Given the description of an element on the screen output the (x, y) to click on. 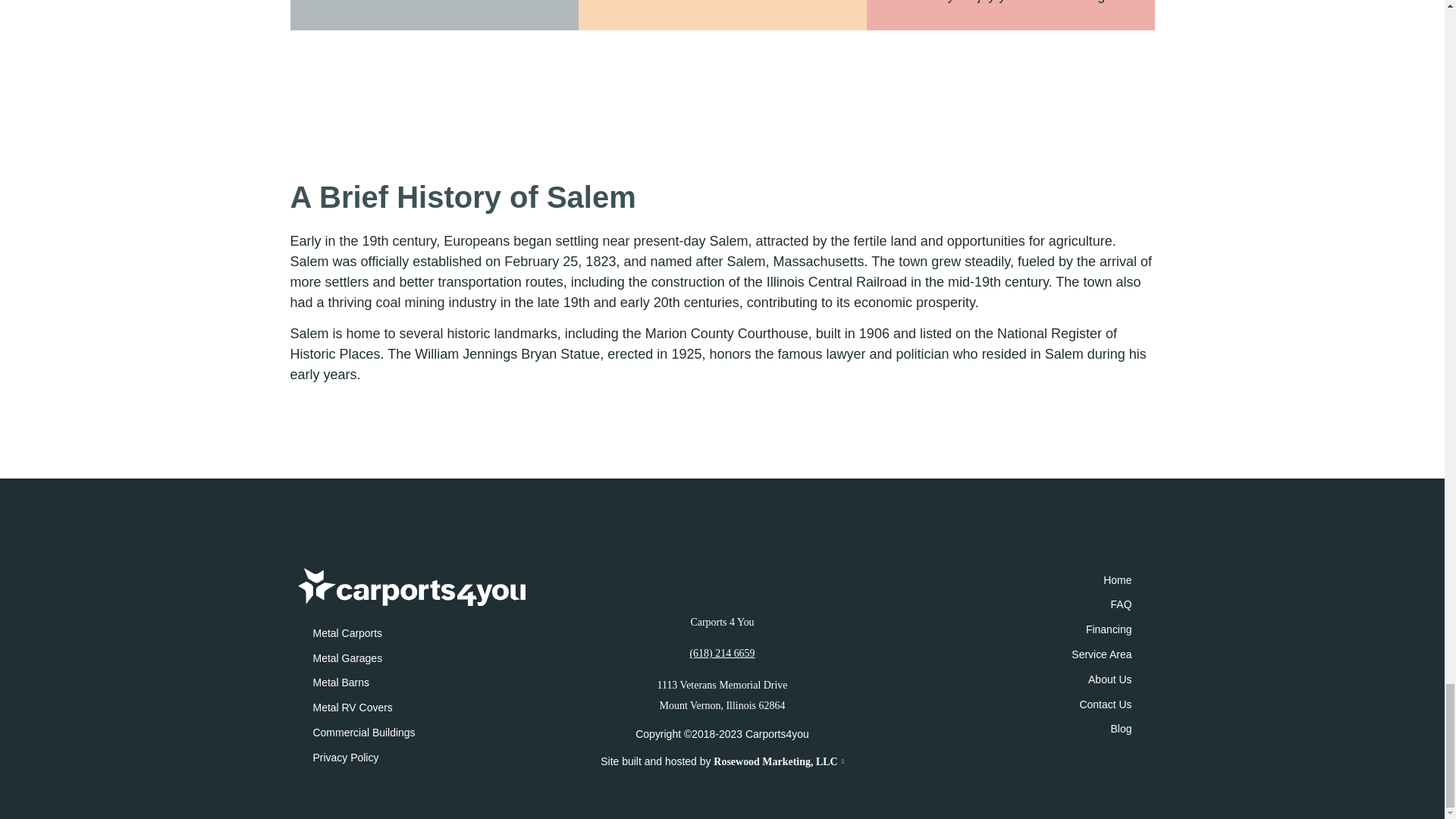
Metal RV Covers (428, 707)
Metal Garages (428, 658)
Metal Carports (428, 633)
Metal Barns (428, 682)
Commercial Buildings (428, 732)
